Given the description of an element on the screen output the (x, y) to click on. 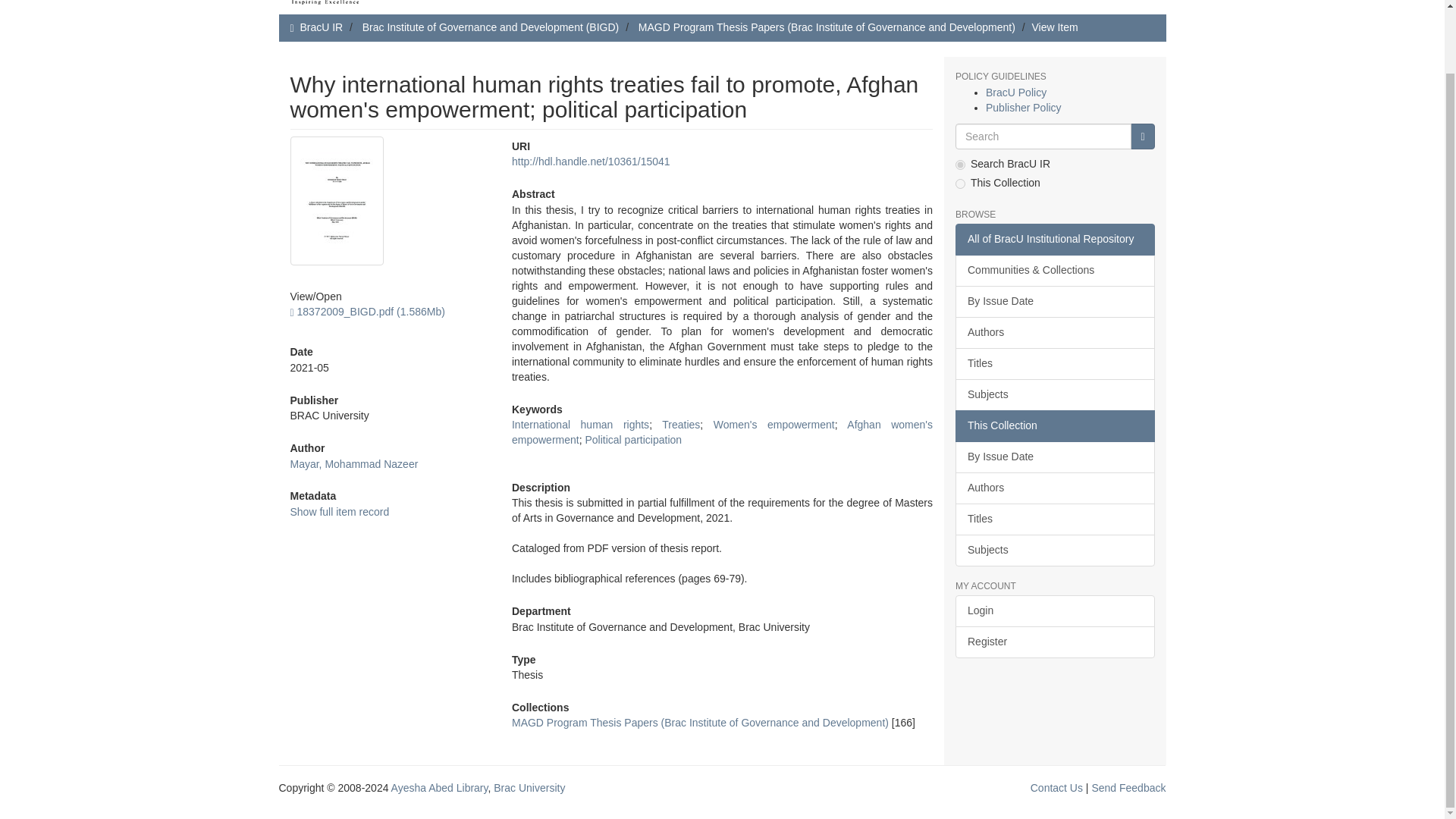
Mayar, Mohammad Nazeer (353, 463)
Go (1142, 136)
Women's empowerment (773, 424)
Political participation (633, 439)
BracU IR (320, 27)
Afghan women's empowerment (722, 431)
Show full item record (338, 511)
Treaties (681, 424)
Titles (1054, 364)
Publisher Policy (1023, 107)
